Given the description of an element on the screen output the (x, y) to click on. 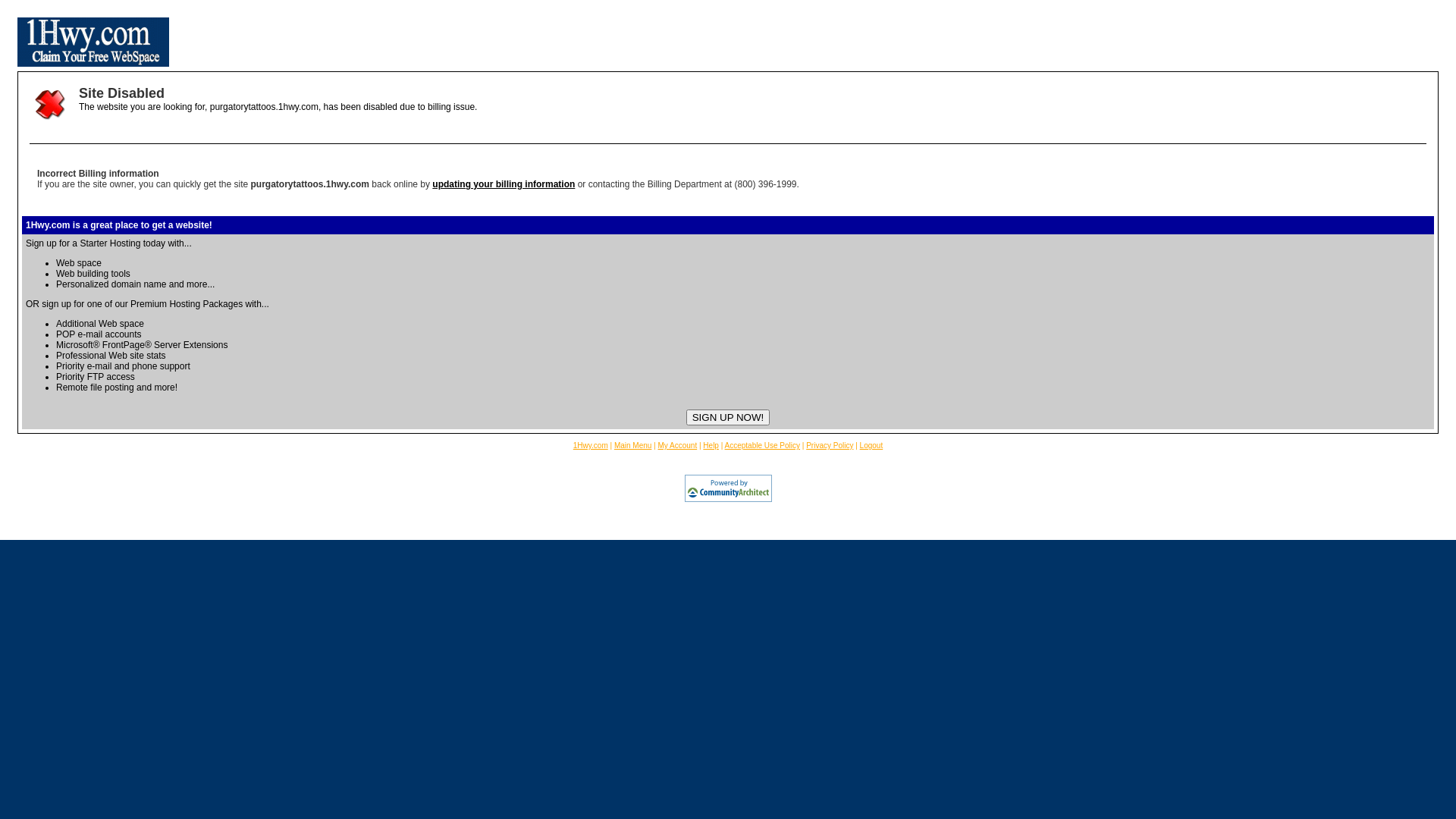
1Hwy.com Element type: text (590, 445)
My Account Element type: text (677, 445)
Privacy Policy Element type: text (829, 445)
updating your billing information Element type: text (503, 183)
Help Element type: text (710, 445)
Main Menu Element type: text (632, 445)
Acceptable Use Policy Element type: text (762, 445)
SIGN UP NOW! Element type: text (728, 417)
Logout Element type: text (871, 445)
